Given the description of an element on the screen output the (x, y) to click on. 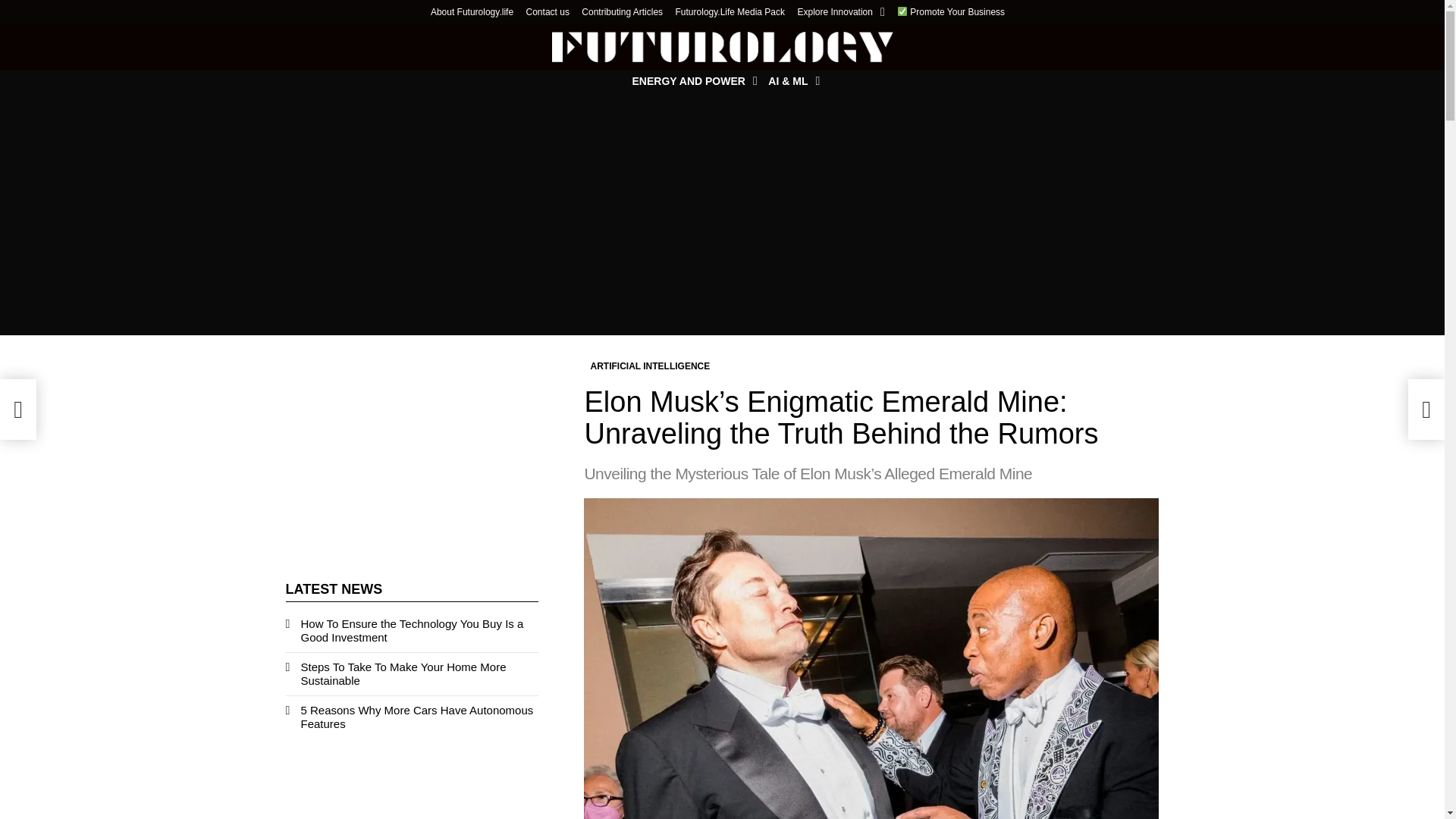
Contact us (547, 12)
Promote Your Business (950, 12)
ARTIFICIAL INTELLIGENCE (649, 365)
About Futurology.life (471, 12)
ENERGY AND POWER (690, 80)
Explore Innovation (841, 12)
Contributing Articles (621, 12)
Futurology.Life Media Pack (730, 12)
